Given the description of an element on the screen output the (x, y) to click on. 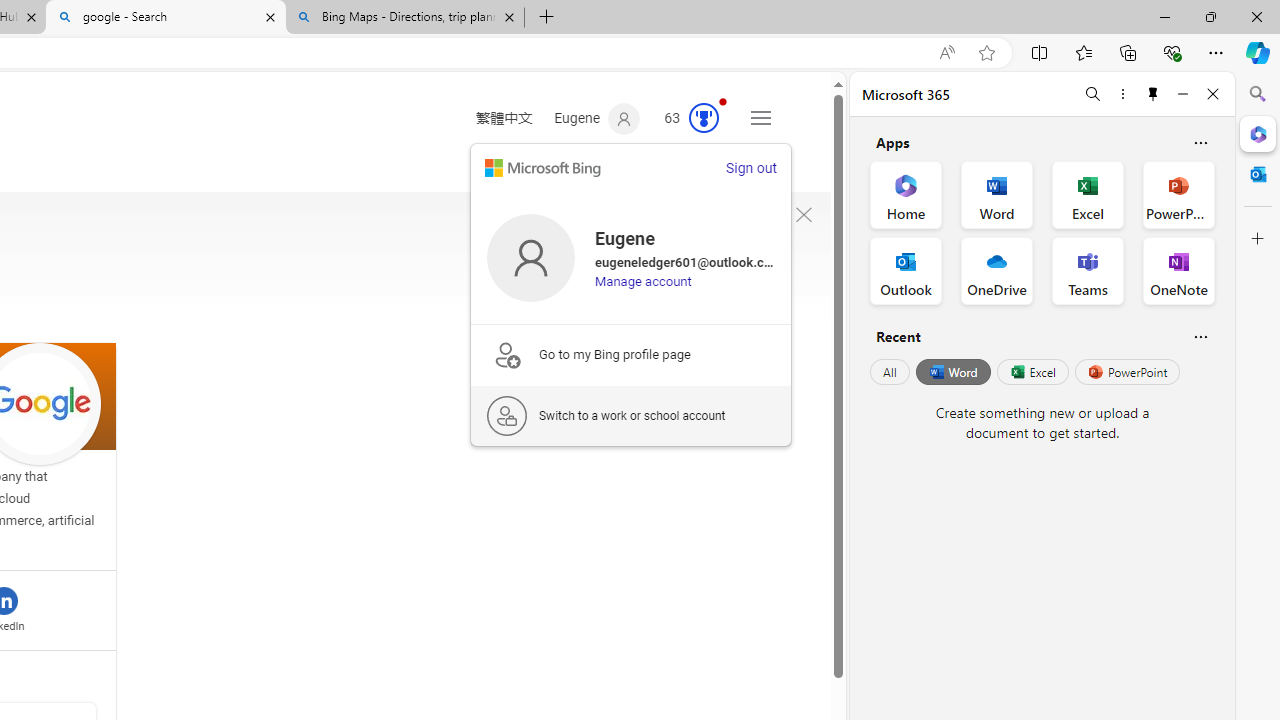
PowerPoint Office App (1178, 194)
OneNote Office App (1178, 270)
OneDrive Office App (996, 270)
Unpin side pane (1153, 93)
microsoft logo (542, 168)
Outlook Office App (906, 270)
google - Search (166, 17)
More options (1122, 93)
AutomationID: rh_meter (703, 117)
Bing Pages Upsell Logo (506, 354)
Go to my Bing profile page (631, 354)
work signin Switch to a work or school account (631, 415)
